Given the description of an element on the screen output the (x, y) to click on. 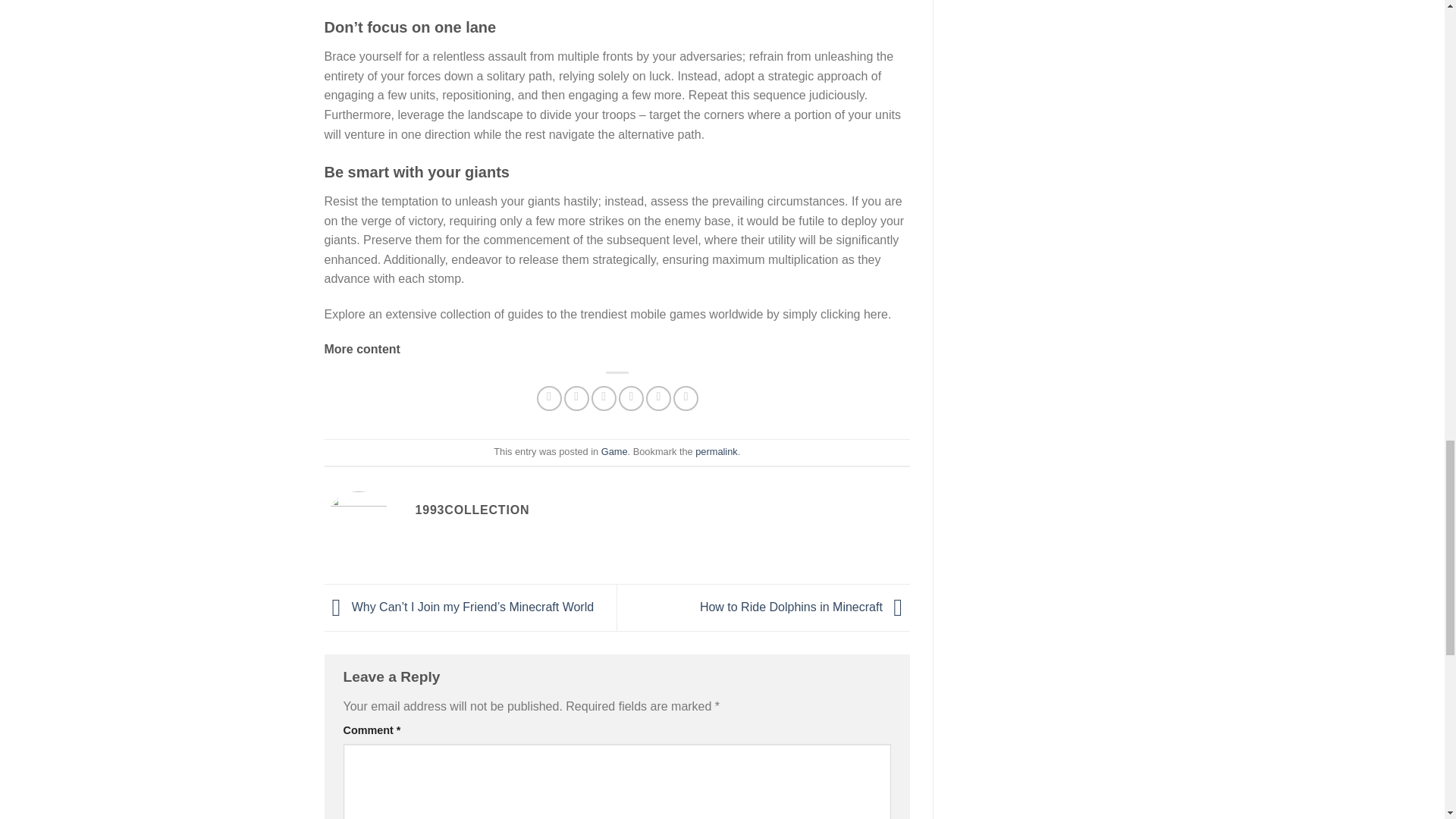
Share on LinkedIn (685, 398)
Pin on Pinterest (630, 398)
permalink (715, 451)
Game (614, 451)
Email to a Friend (603, 398)
Share on Facebook (549, 398)
How to Ride Dolphins in Minecraft (805, 606)
Share on Twitter (576, 398)
